Given the description of an element on the screen output the (x, y) to click on. 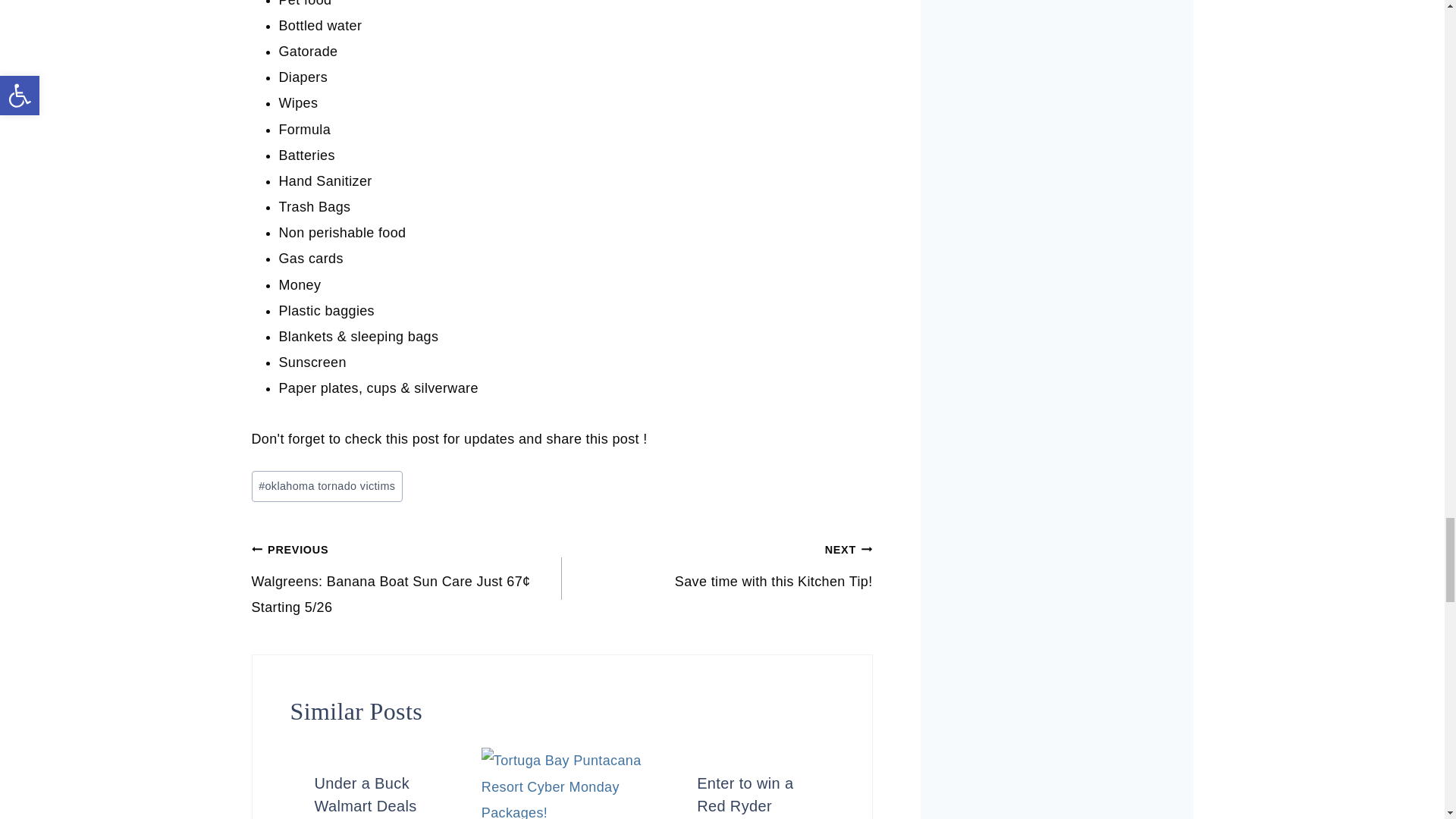
oklahoma tornado victims (327, 486)
